Given the description of an element on the screen output the (x, y) to click on. 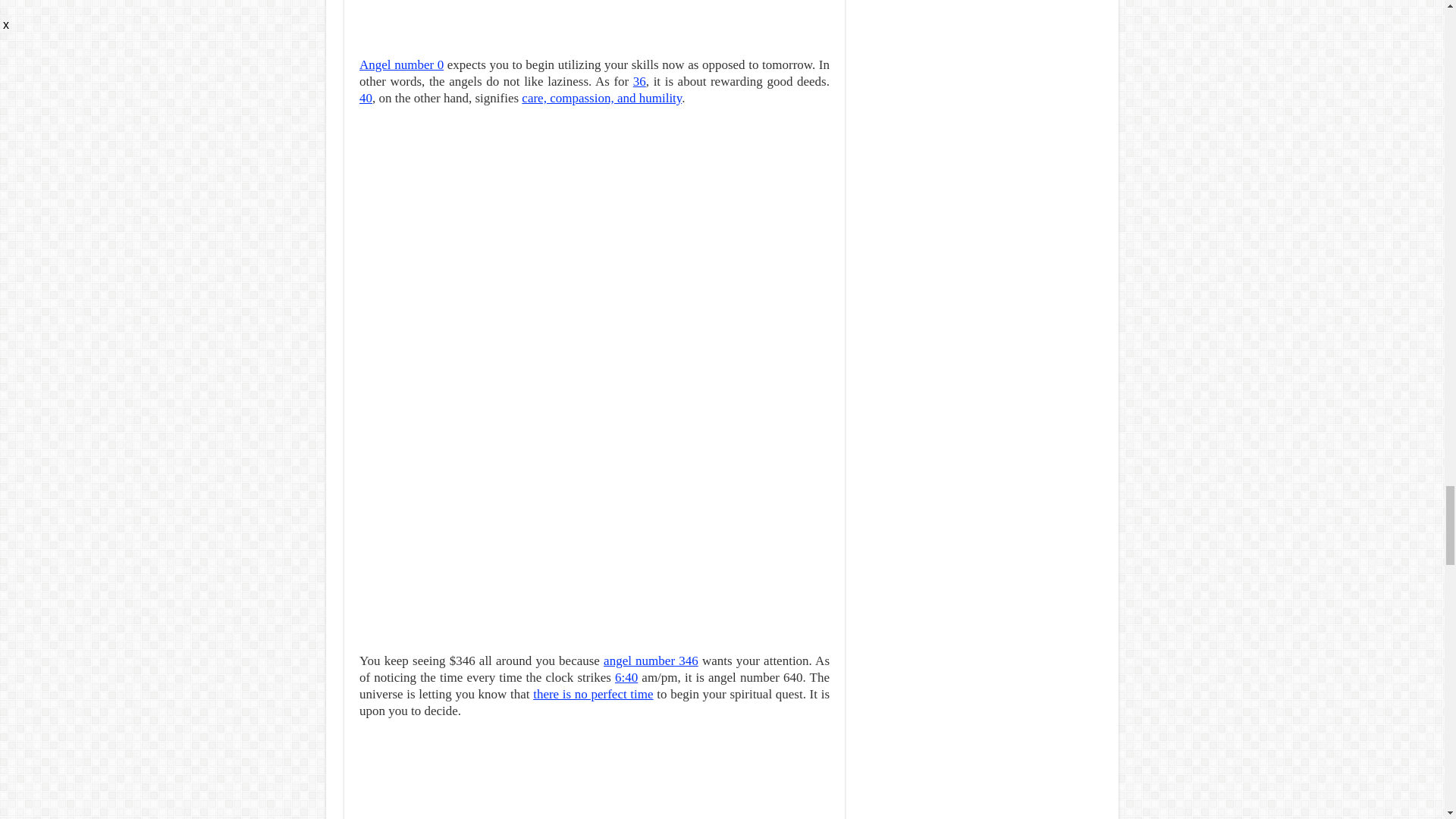
Angel number 0 (401, 64)
